Given the description of an element on the screen output the (x, y) to click on. 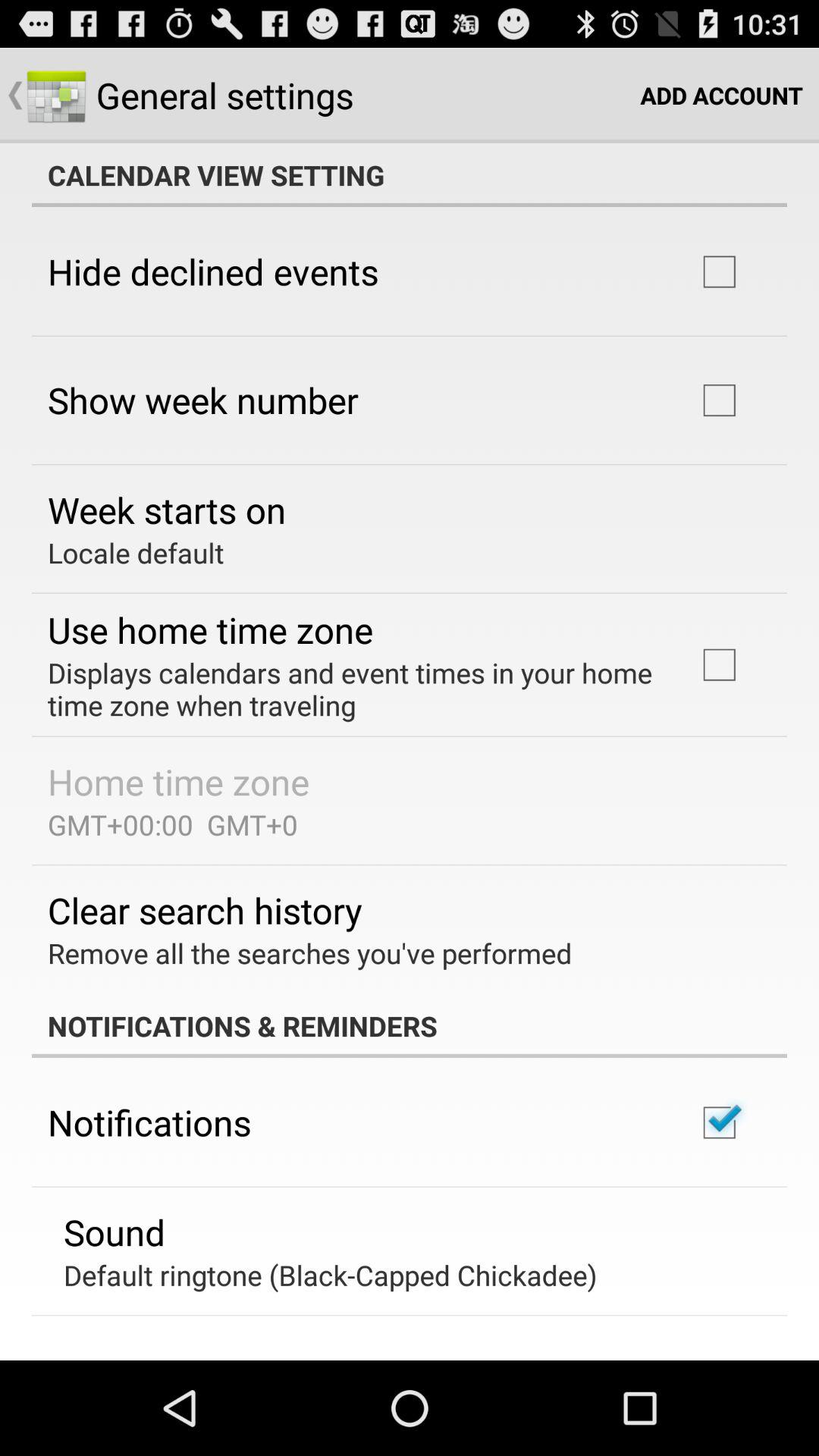
tap app below the sound item (330, 1274)
